Given the description of an element on the screen output the (x, y) to click on. 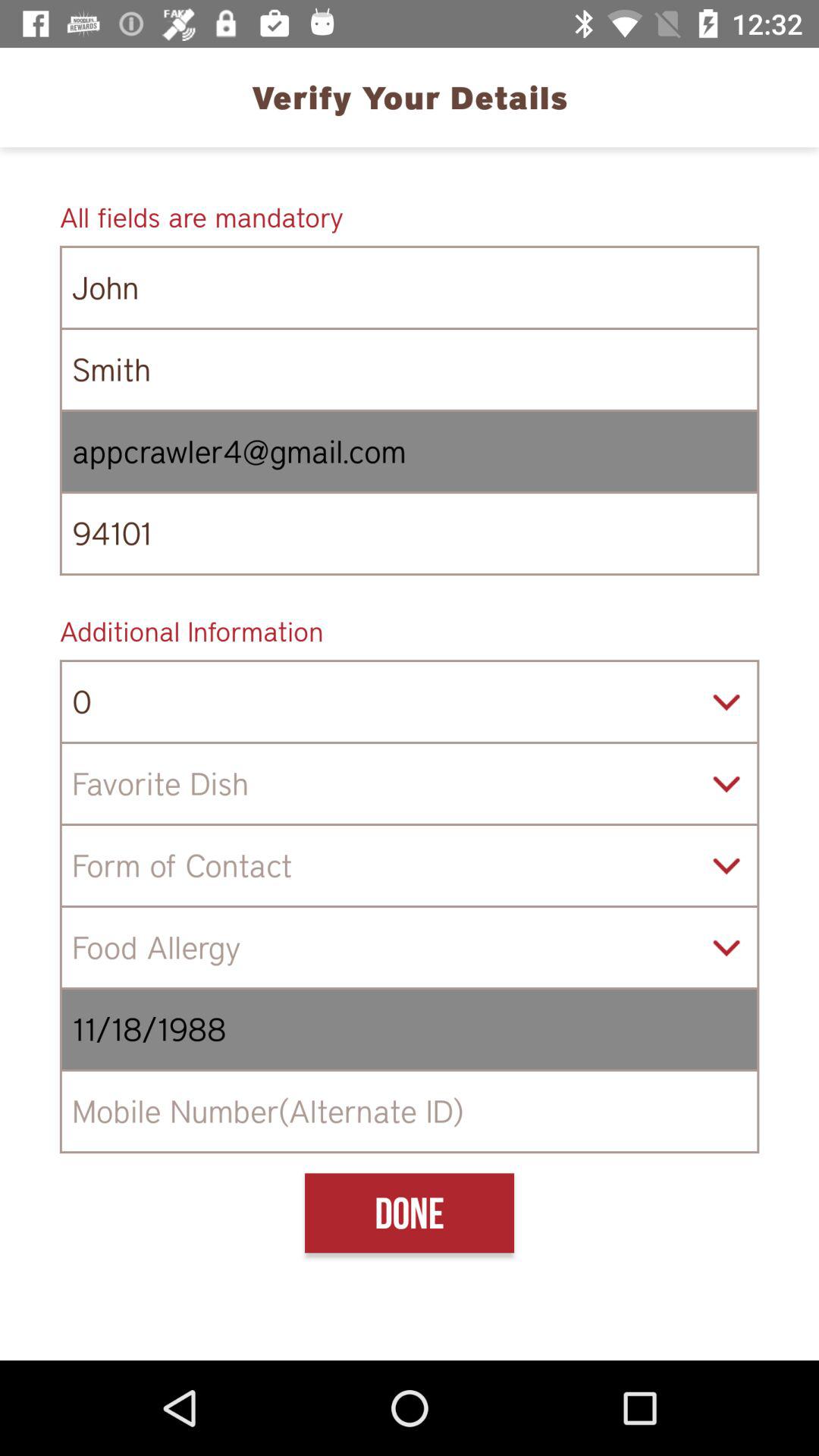
favorite food drop down box (409, 783)
